Given the description of an element on the screen output the (x, y) to click on. 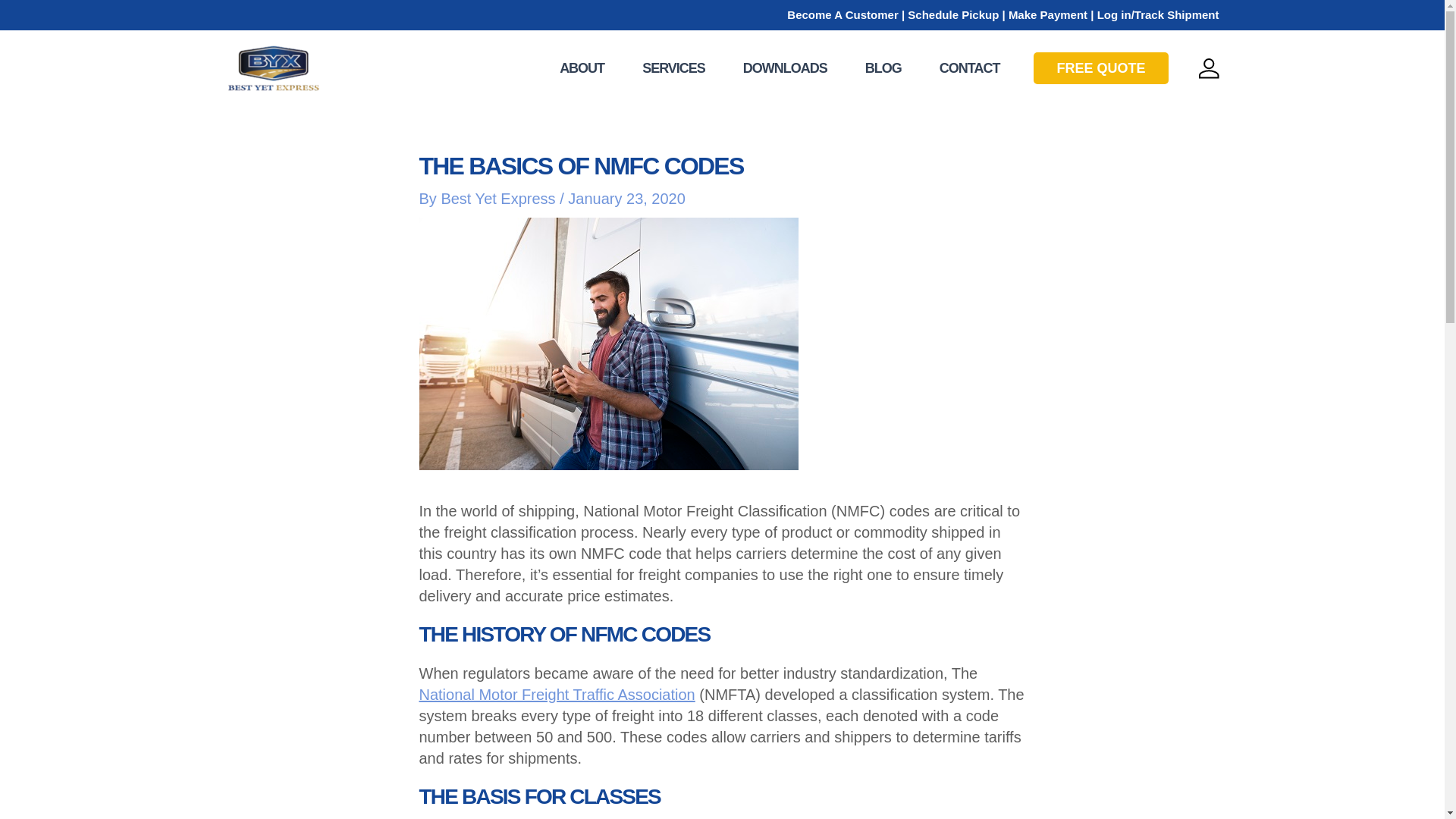
DOWNLOADS (784, 67)
FREE QUOTE (1100, 68)
Make Payment (1048, 14)
Become A Customer (842, 14)
Schedule Pickup (952, 14)
View all posts by Best Yet Express (500, 198)
SERVICES (673, 67)
CONTACT (969, 67)
BLOG (882, 67)
ABOUT (581, 67)
